Given the description of an element on the screen output the (x, y) to click on. 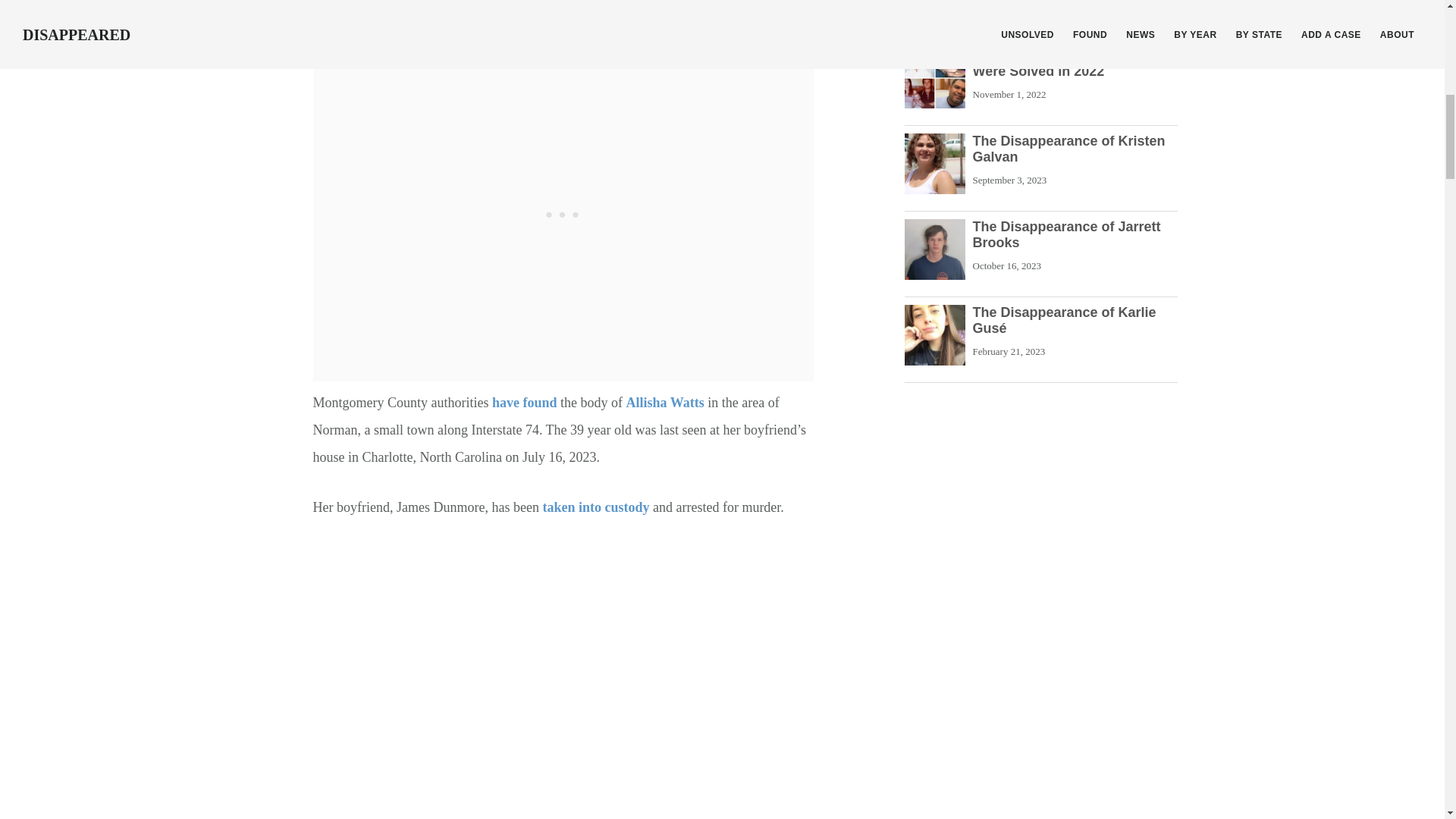
have found (524, 402)
Allisha Watts (665, 402)
taken into custody (595, 507)
